Given the description of an element on the screen output the (x, y) to click on. 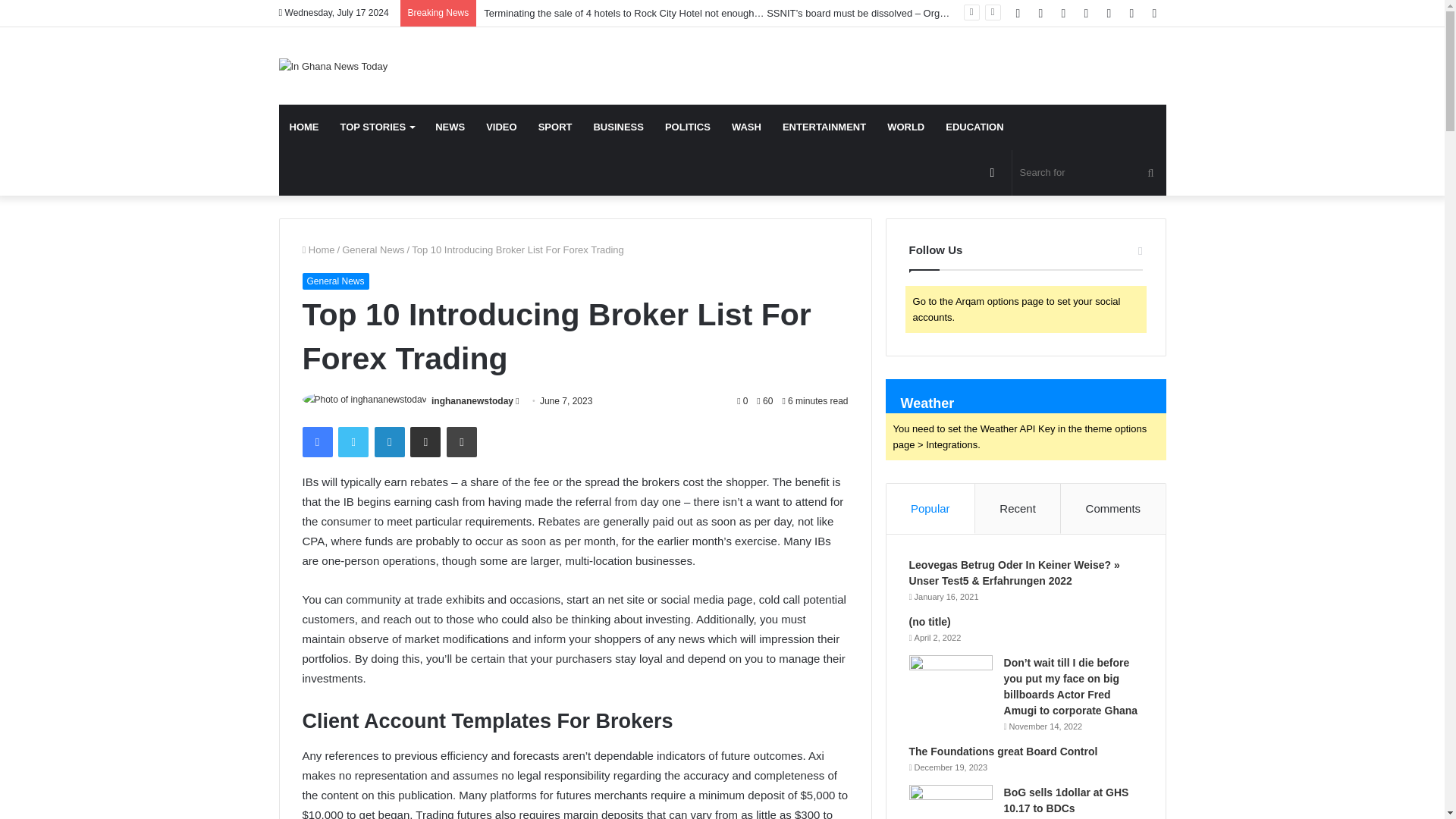
Facebook (316, 441)
Share via Email (425, 441)
EDUCATION (973, 126)
LinkedIn (389, 441)
Random Article (1131, 13)
General News (334, 280)
Random Article (1131, 13)
BUSINESS (617, 126)
POLITICS (686, 126)
Facebook (316, 441)
WASH (745, 126)
General News (373, 249)
SPORT (555, 126)
VIDEO (501, 126)
